Given the description of an element on the screen output the (x, y) to click on. 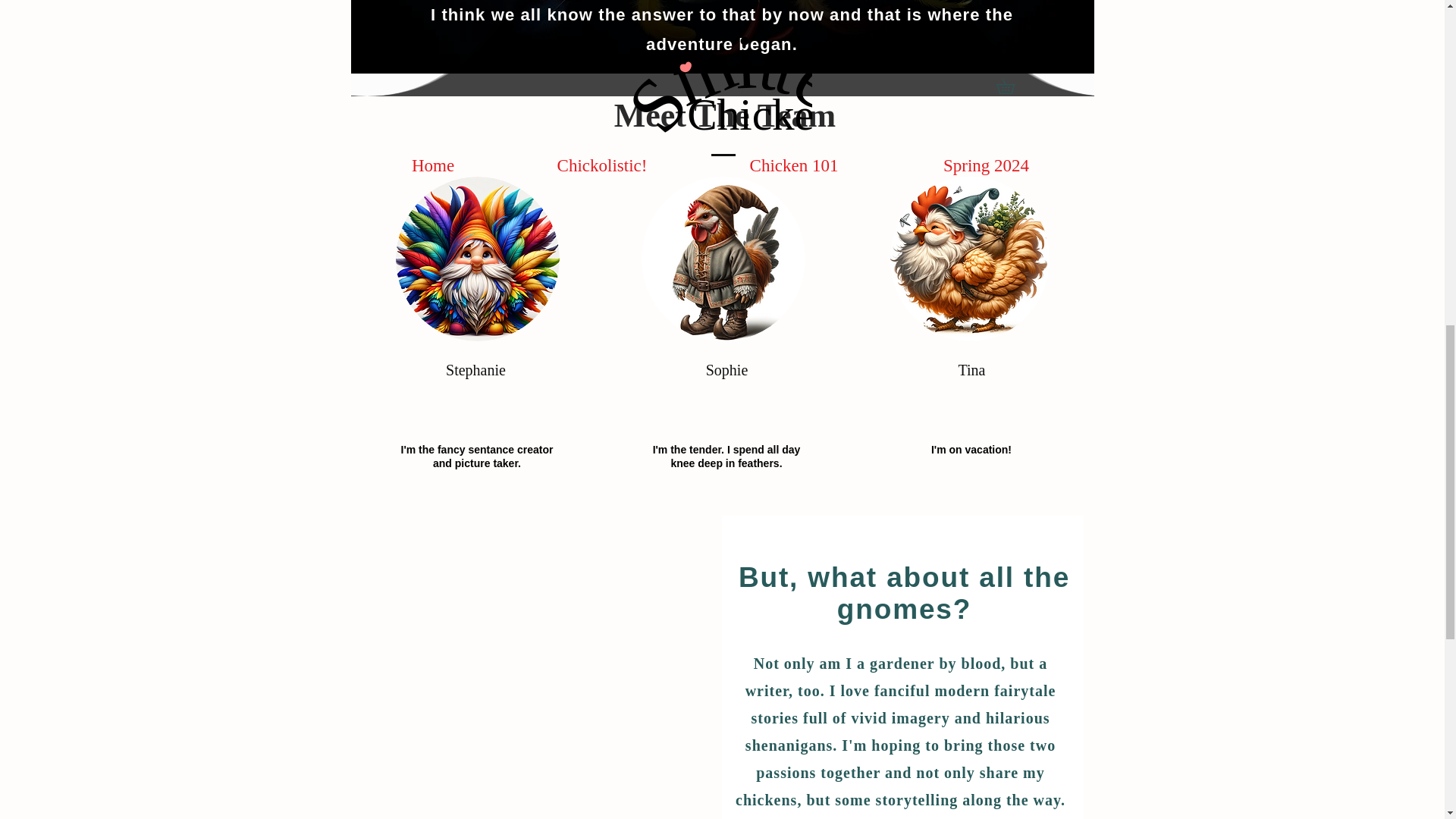
guy2.jpg (477, 258)
guy4.jpg (723, 258)
guy3.jpg (969, 258)
